Given the description of an element on the screen output the (x, y) to click on. 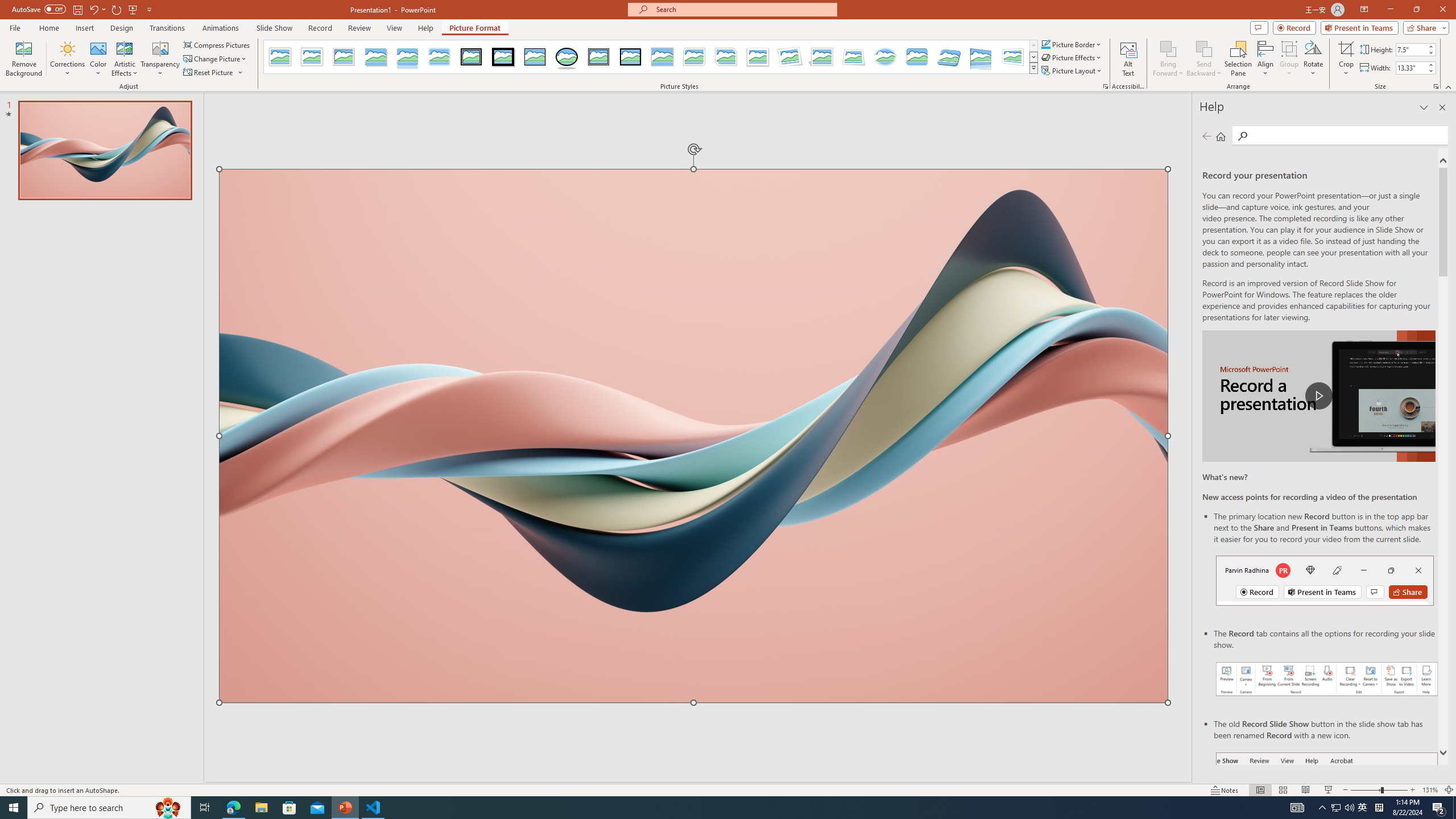
Zoom (1379, 790)
Present in Teams (1359, 27)
Previous page (1206, 136)
Zoom In (1412, 790)
Class: MsoCommandBar (728, 789)
Search (1347, 135)
Simple Frame, White (280, 56)
Beveled Matte, White (312, 56)
Alt Text (1128, 58)
Bring Forward (1168, 58)
More Options (1345, 68)
Undo (92, 9)
Perspective Shadow, White (821, 56)
Drop Shadow Rectangle (375, 56)
